Given the description of an element on the screen output the (x, y) to click on. 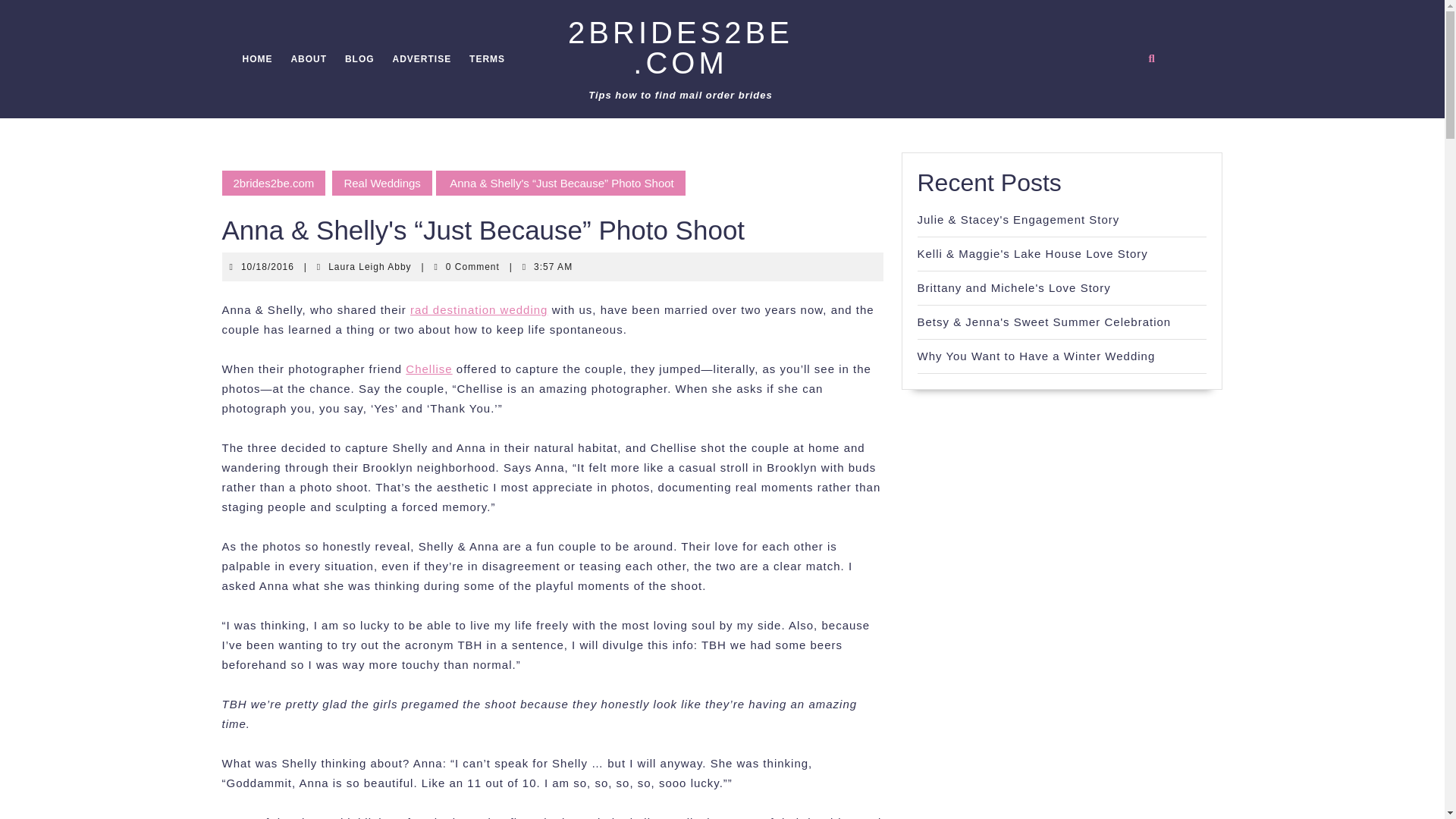
ADVERTISE (422, 59)
Brittany and Michele's Love Story (1013, 287)
2brides2be.com (272, 181)
BLOG (369, 266)
ABOUT (359, 59)
Chellise (308, 59)
HOME (428, 368)
TERMS (257, 59)
Why You Want to Have a Winter Wedding (486, 59)
2BRIDES2BE.COM (1036, 355)
rad destination wedding (680, 47)
Real Weddings (478, 309)
